Given the description of an element on the screen output the (x, y) to click on. 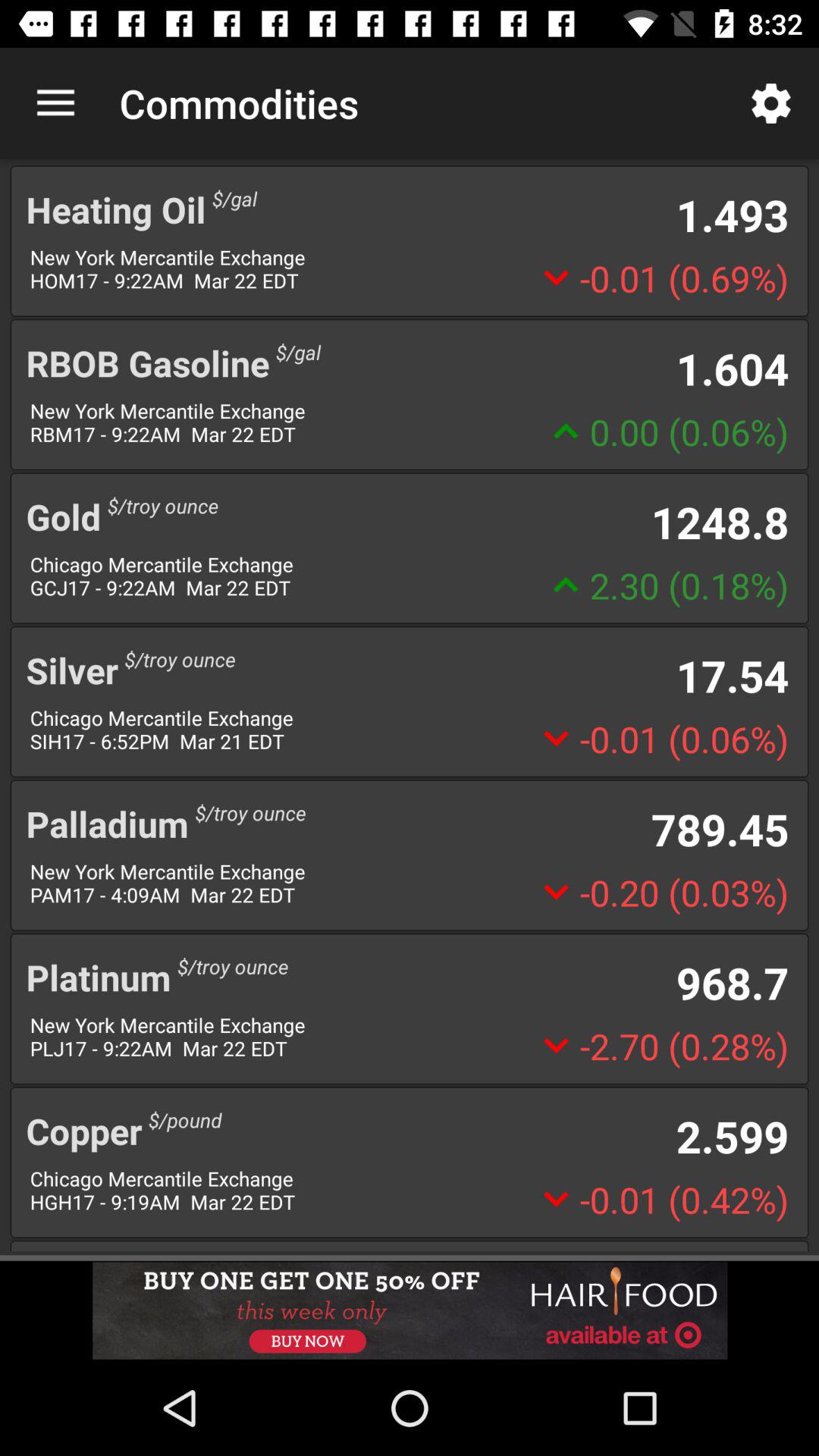
advertise banner (409, 1310)
